Given the description of an element on the screen output the (x, y) to click on. 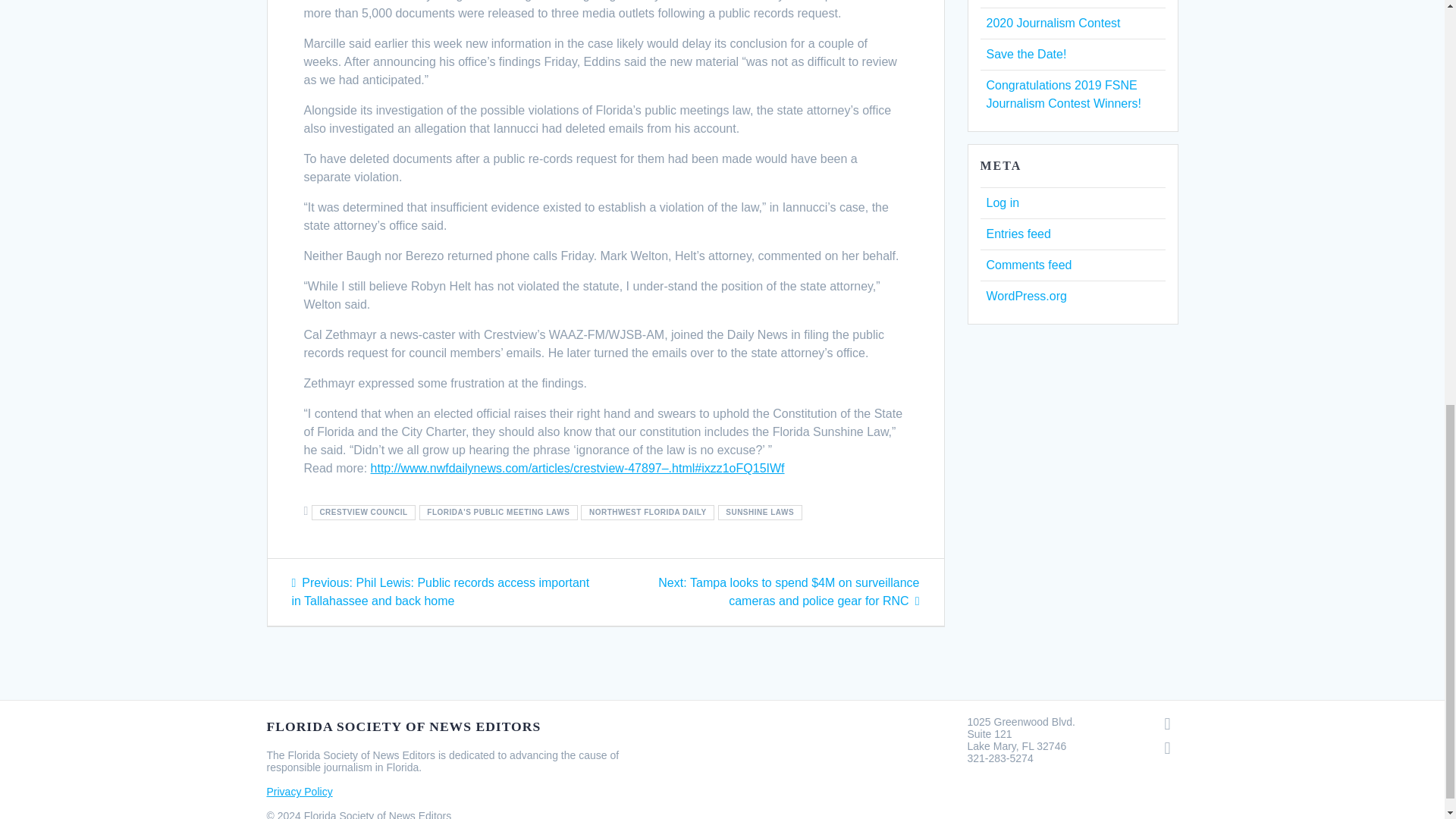
SUNSHINE LAWS (759, 512)
FLORIDA'S PUBLIC MEETING LAWS (498, 512)
CRESTVIEW COUNCIL (362, 512)
NORTHWEST FLORIDA DAILY (647, 512)
